Given the description of an element on the screen output the (x, y) to click on. 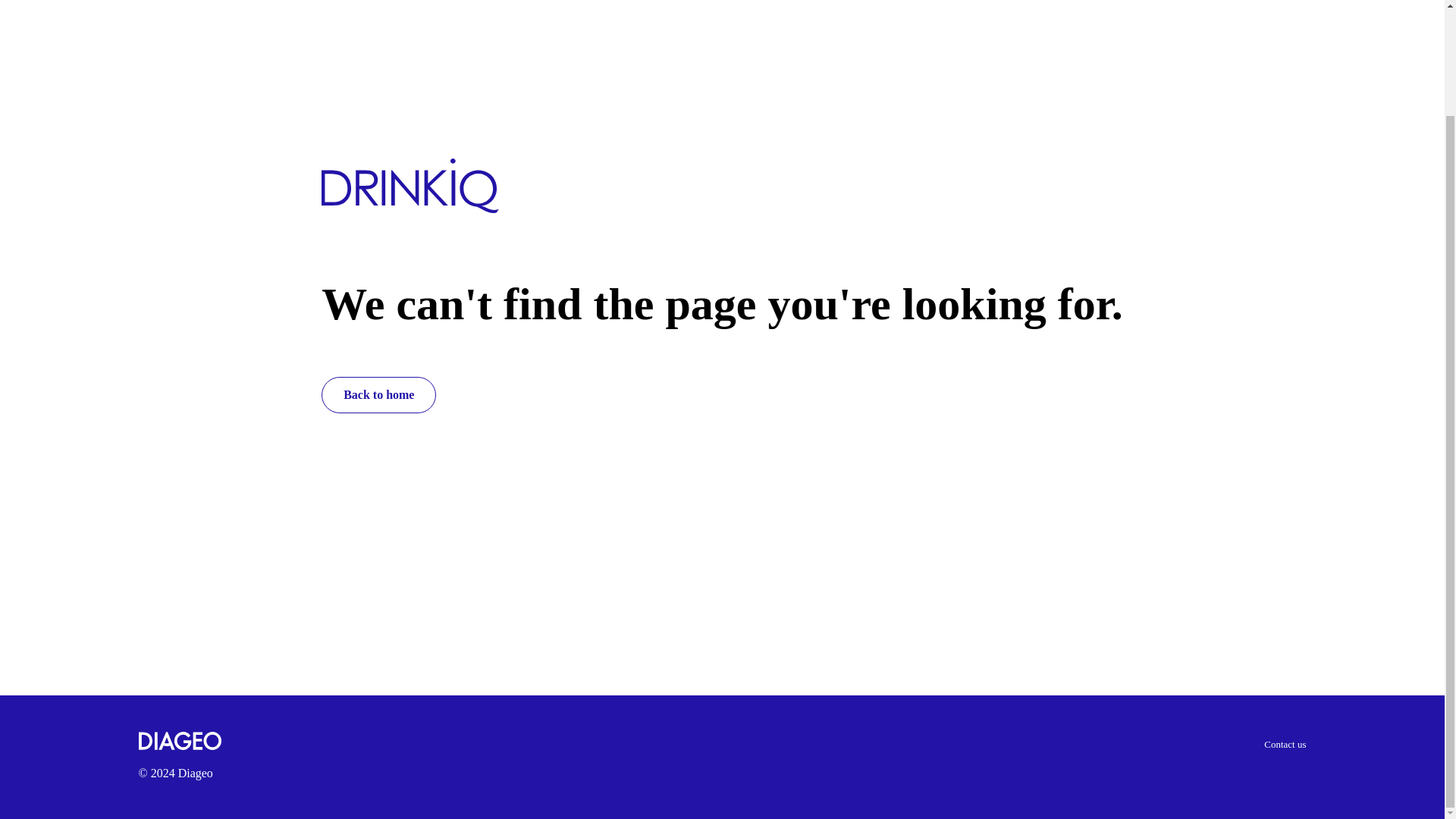
Contact us (1284, 744)
Back to home (378, 394)
